Given the description of an element on the screen output the (x, y) to click on. 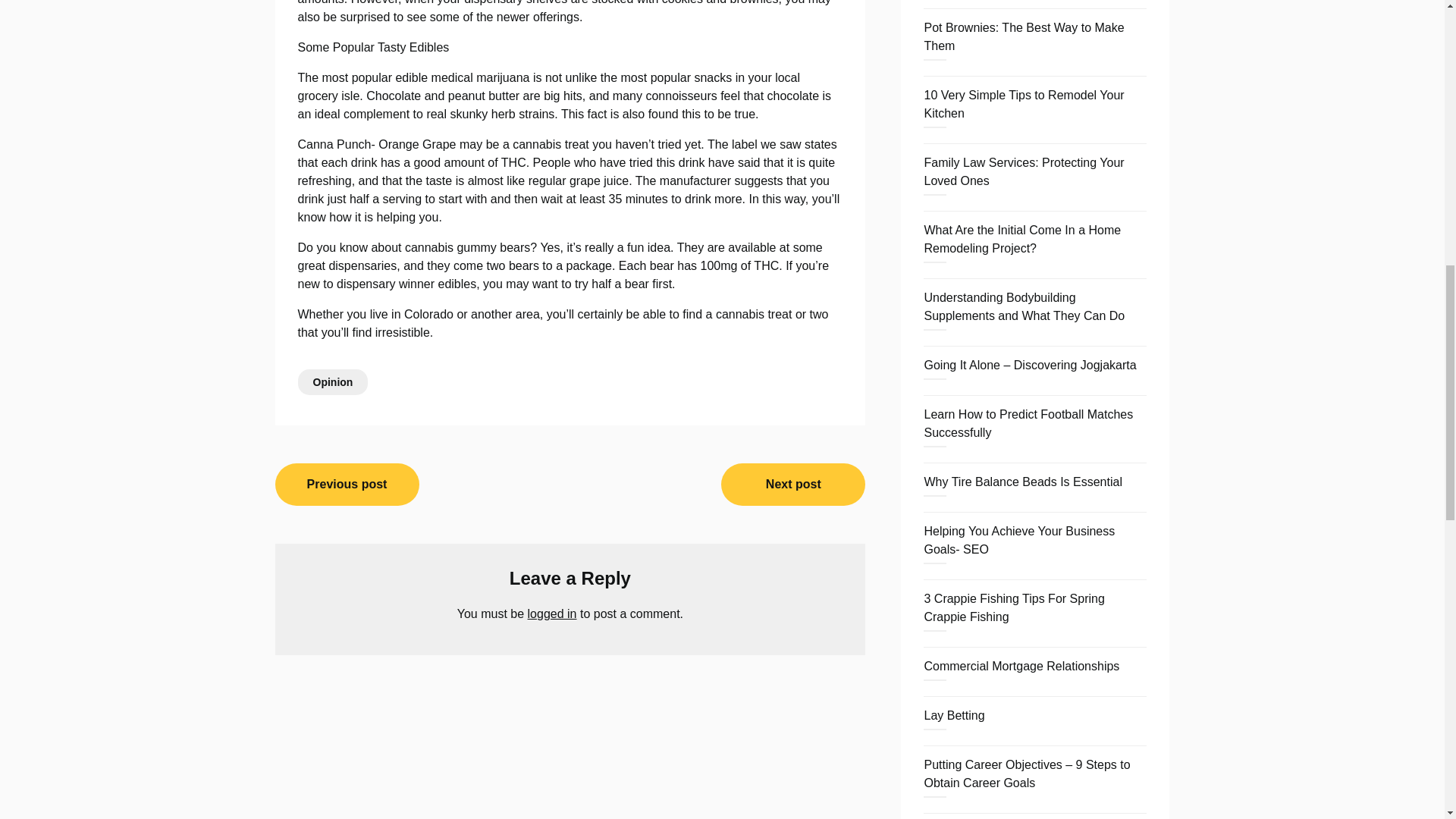
Next post (792, 484)
10 Very Simple Tips to Remodel Your Kitchen (1023, 103)
Understanding Bodybuilding Supplements and What They Can Do (1023, 306)
3 Crappie Fishing Tips For Spring Crappie Fishing (1013, 607)
Pot Brownies: The Best Way to Make Them (1023, 36)
Previous post (347, 484)
Family Law Services: Protecting Your Loved Ones (1023, 171)
Opinion (332, 381)
Why Tire Balance Beads Is Essential (1022, 481)
Commercial Mortgage Relationships (1021, 666)
